Given the description of an element on the screen output the (x, y) to click on. 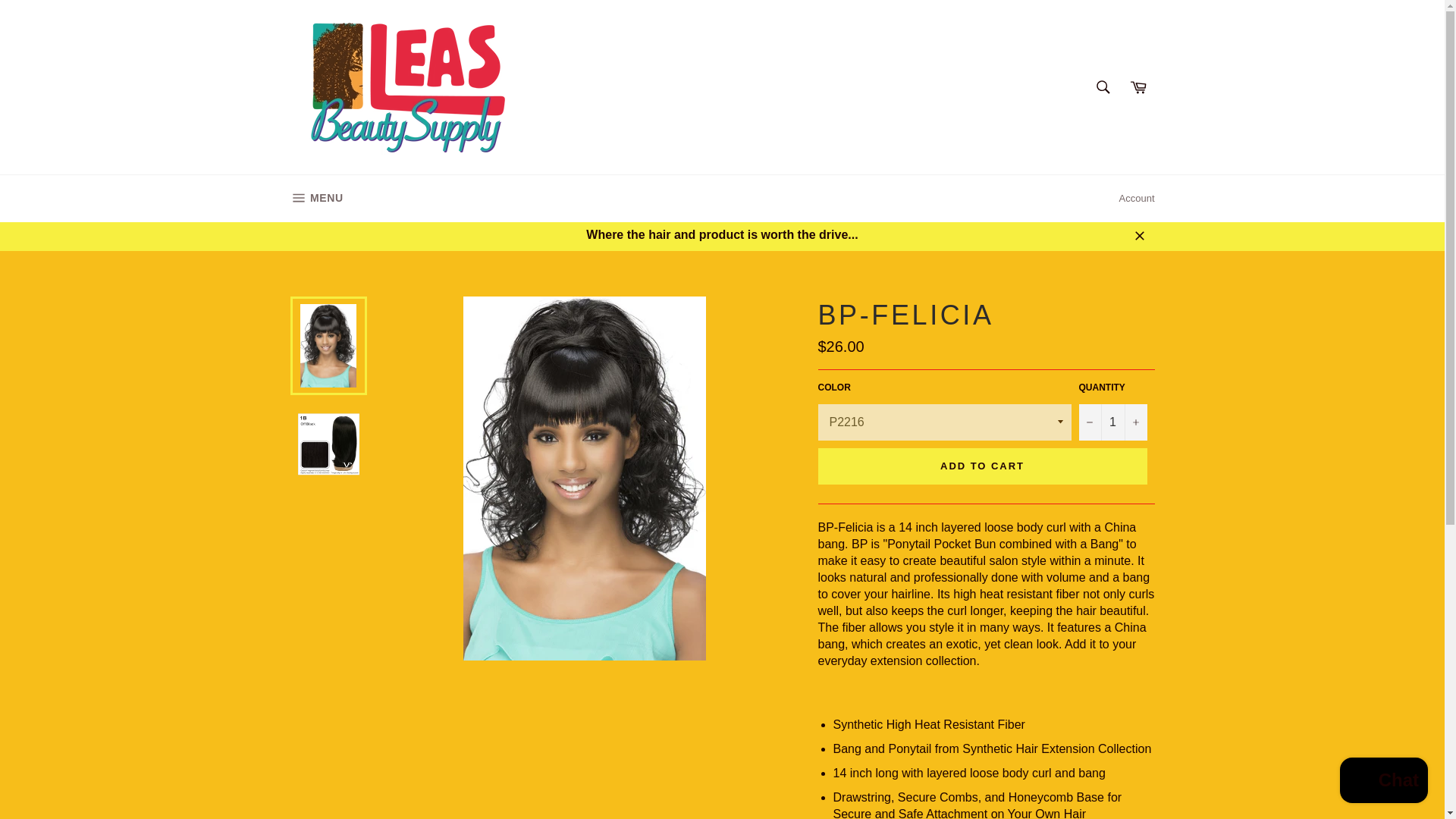
Search (1103, 87)
1 (316, 198)
Cart (1112, 422)
Shopify online store chat (1138, 87)
